Given the description of an element on the screen output the (x, y) to click on. 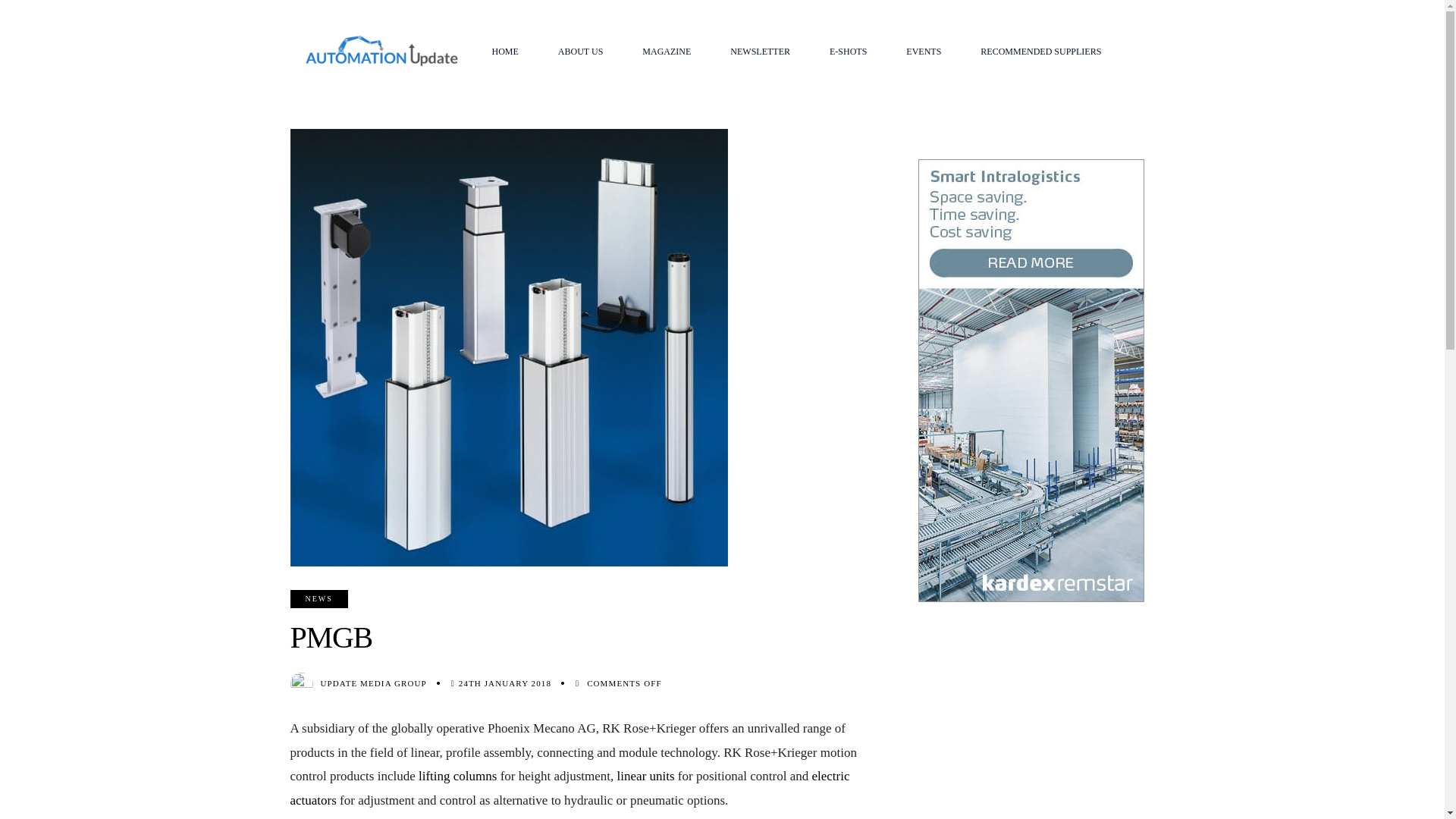
lifting columns (457, 775)
linear units (646, 775)
NEWS (318, 598)
electric actuators (568, 787)
MAGAZINE (666, 51)
ABOUT US (580, 51)
E-SHOTS (847, 51)
Posts by Update Media Group (373, 682)
NEWSLETTER (759, 51)
EVENTS (923, 51)
Automation Update (381, 51)
HOME (504, 51)
RECOMMENDED SUPPLIERS (1040, 51)
UPDATE MEDIA GROUP (373, 682)
